Given the description of an element on the screen output the (x, y) to click on. 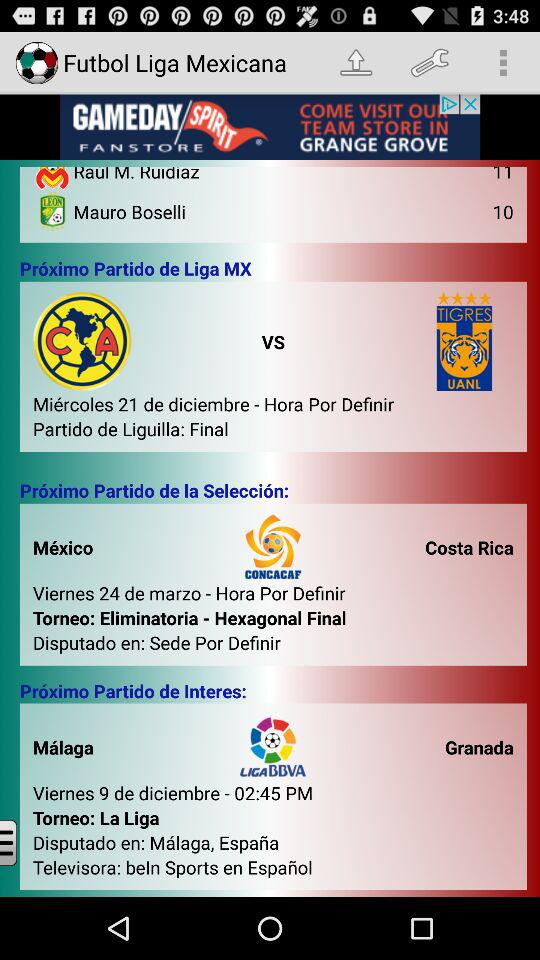
go to the advert (270, 127)
